Given the description of an element on the screen output the (x, y) to click on. 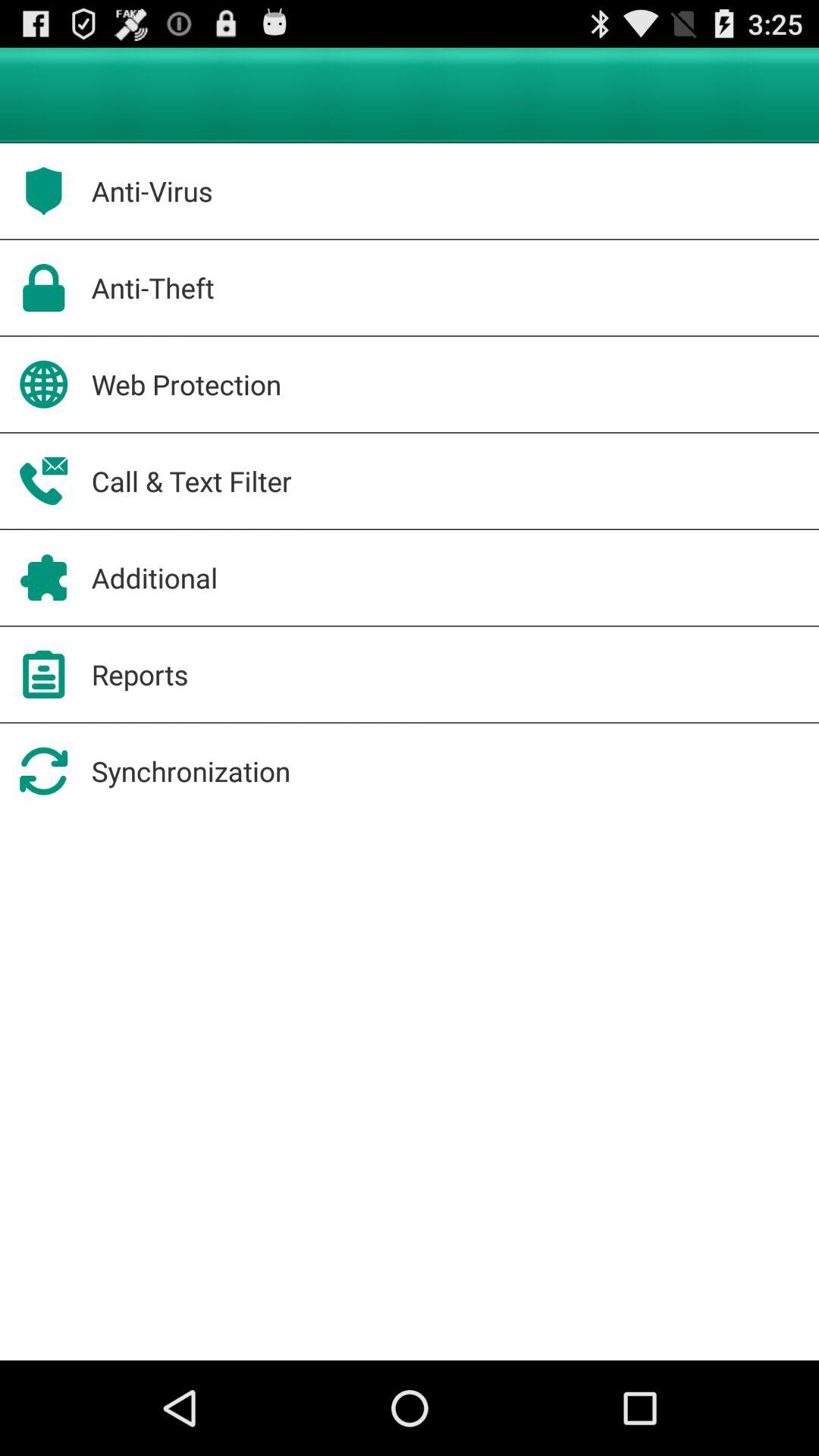
turn off icon below reports item (190, 770)
